Given the description of an element on the screen output the (x, y) to click on. 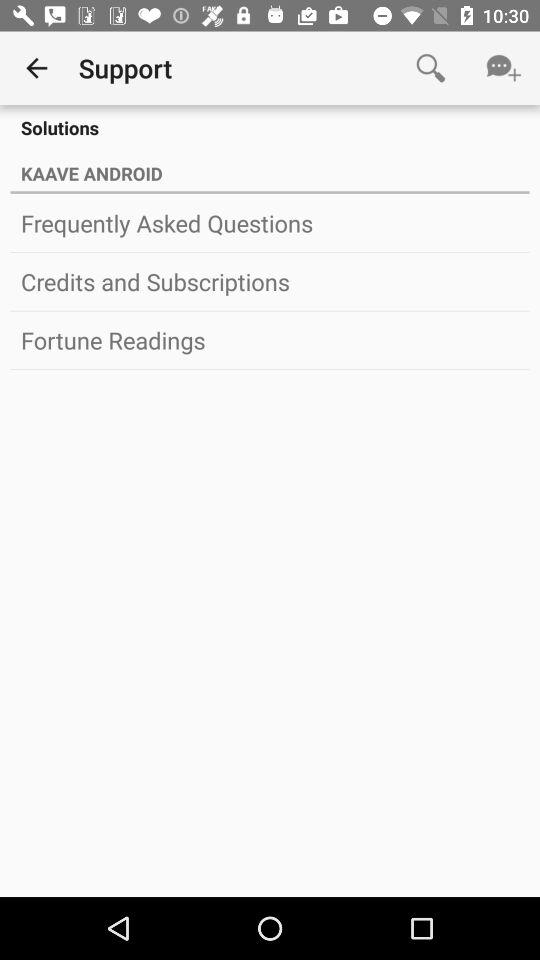
click icon above the solutions item (503, 67)
